Given the description of an element on the screen output the (x, y) to click on. 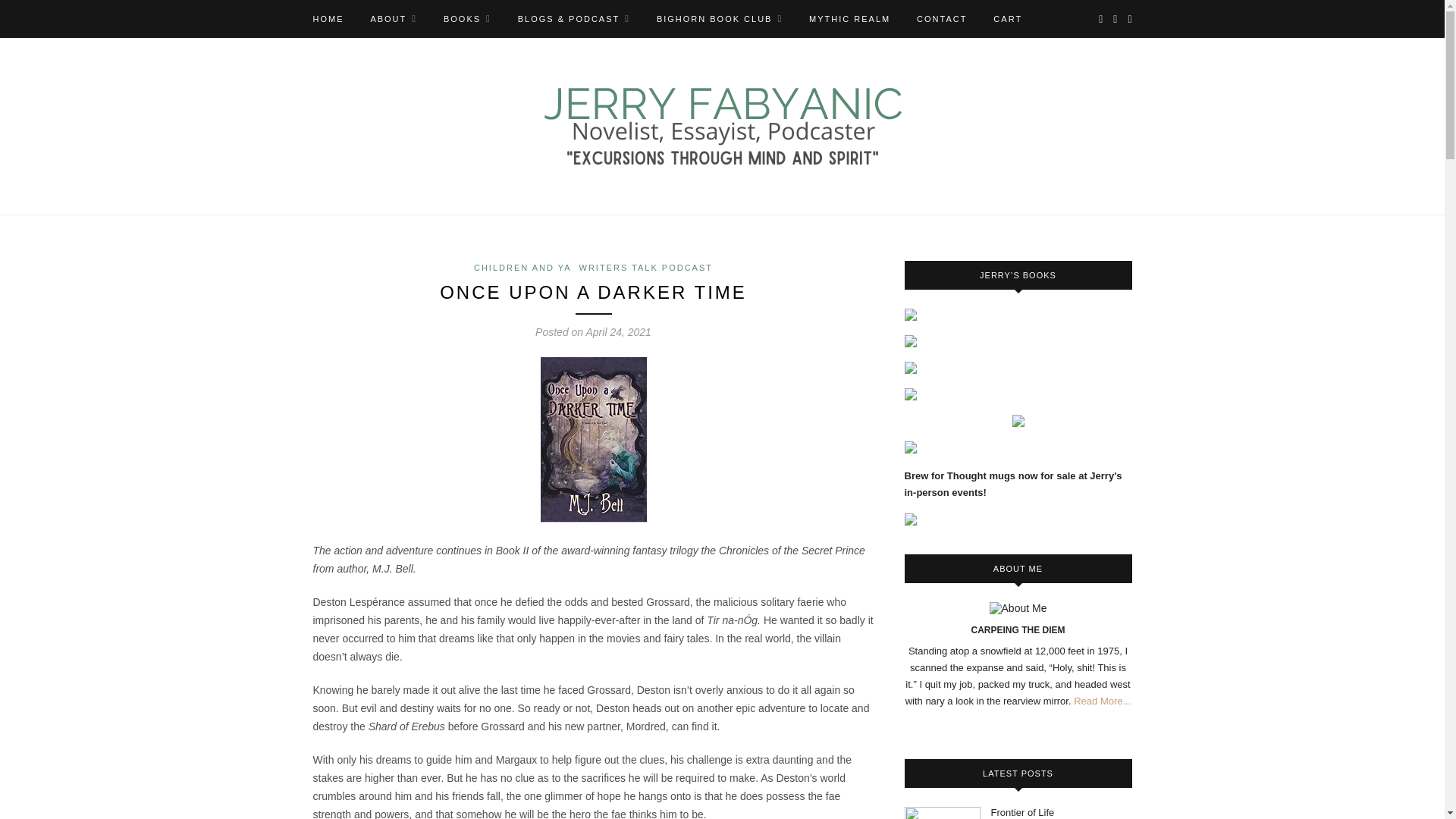
CONTACT (941, 18)
CART (1007, 18)
BOOKS (468, 18)
MYTHIC REALM (849, 18)
HOME (328, 18)
ABOUT (392, 18)
BIGHORN BOOK CLUB (719, 18)
